Given the description of an element on the screen output the (x, y) to click on. 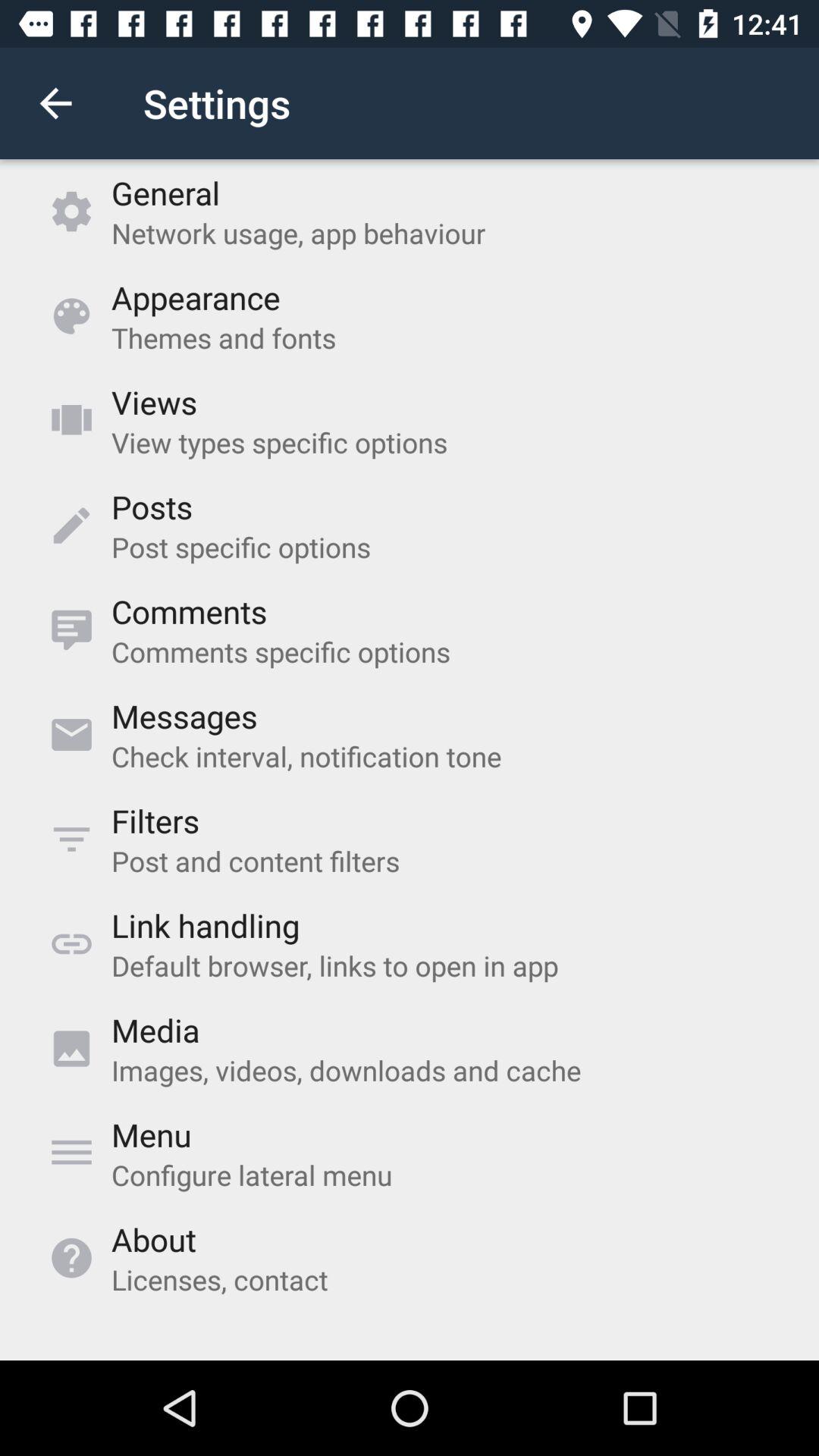
press general item (165, 192)
